Given the description of an element on the screen output the (x, y) to click on. 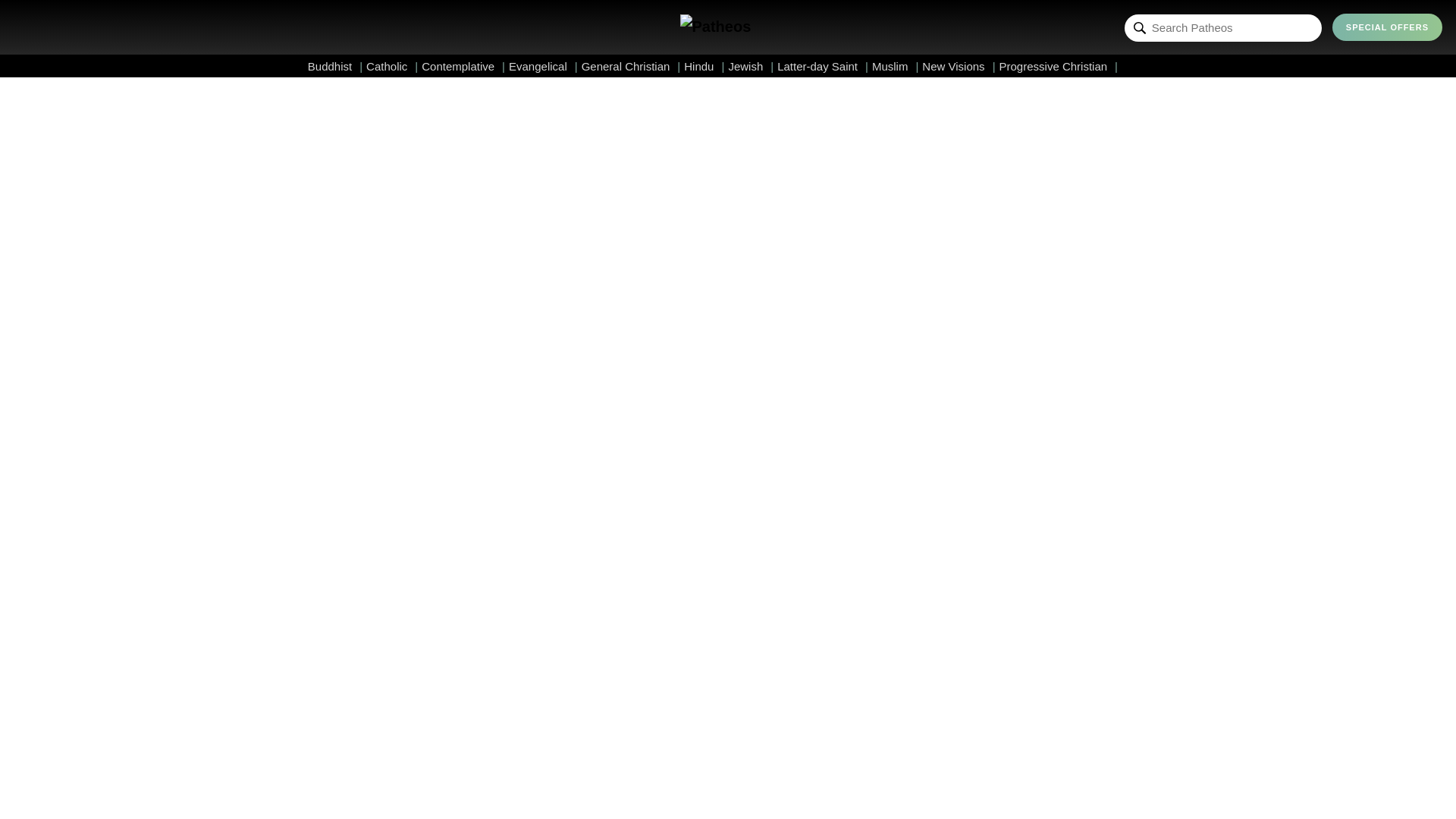
Progressive Christian (1058, 65)
Buddhist (334, 65)
New Visions (957, 65)
Latter-day Saint (822, 65)
Evangelical (543, 65)
Contemplative (463, 65)
Jewish (750, 65)
SPECIAL OFFERS (1387, 26)
Hindu (703, 65)
General Christian (630, 65)
